Given the description of an element on the screen output the (x, y) to click on. 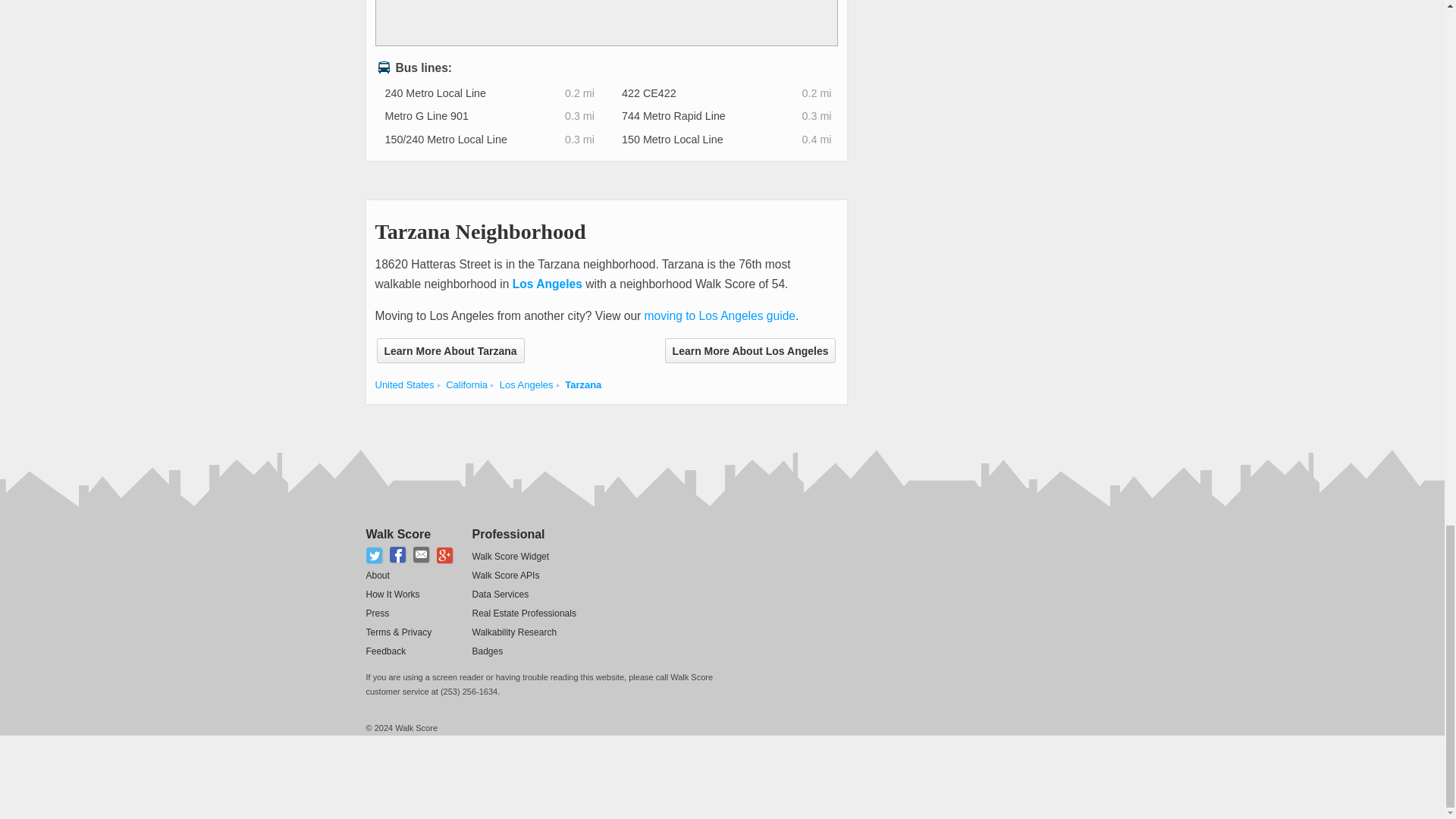
Cities in California state (466, 384)
moving to Los Angeles guide (719, 315)
Los Angeles (547, 283)
United States (403, 384)
Learn More About Tarzana (449, 350)
Learn More About Los Angeles (750, 350)
United States Walkability Rankings (403, 384)
